Given the description of an element on the screen output the (x, y) to click on. 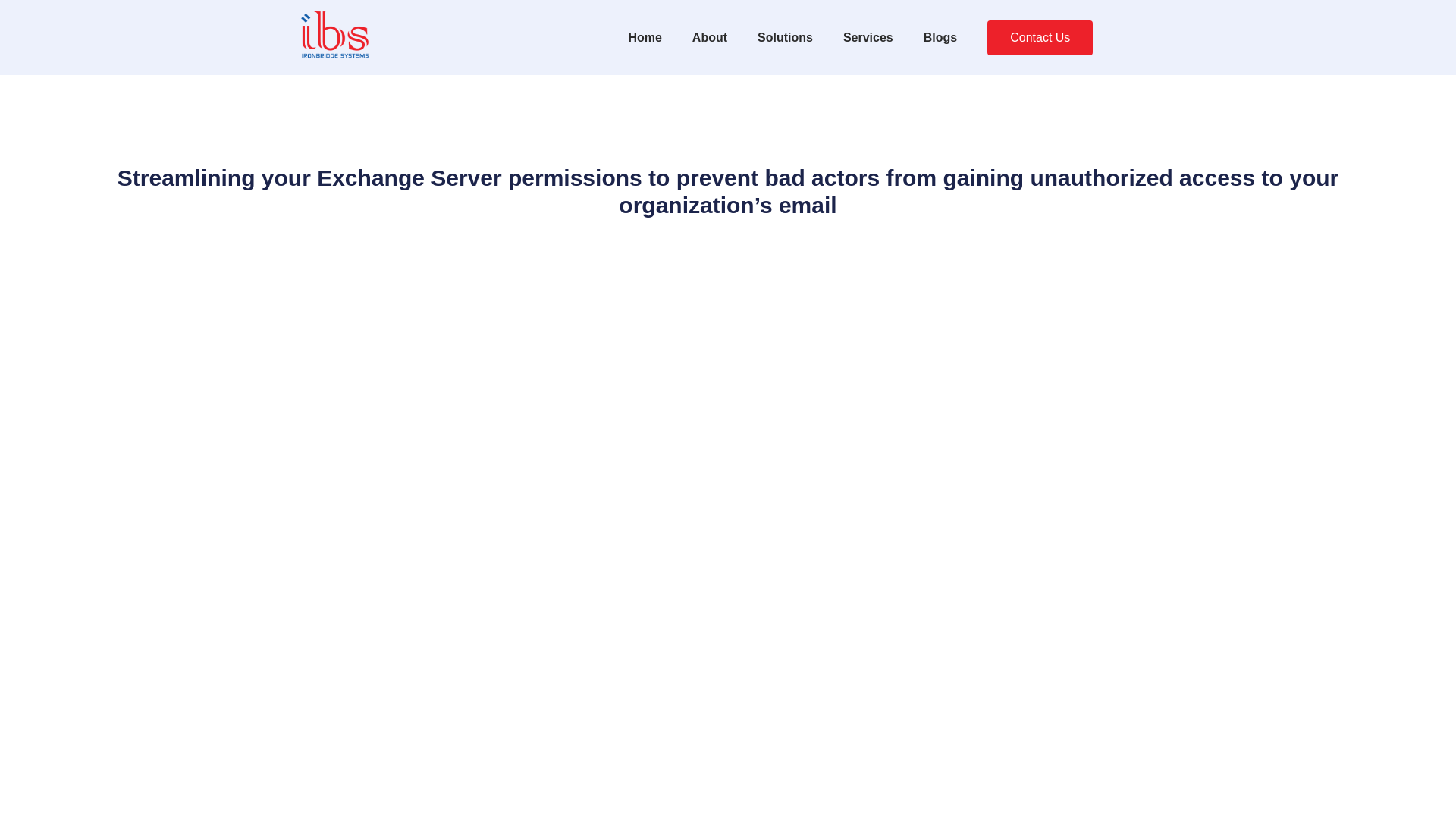
Services (868, 37)
Home (644, 37)
Contact Us (1040, 37)
About (709, 37)
Solutions (785, 37)
Blogs (940, 37)
